Given the description of an element on the screen output the (x, y) to click on. 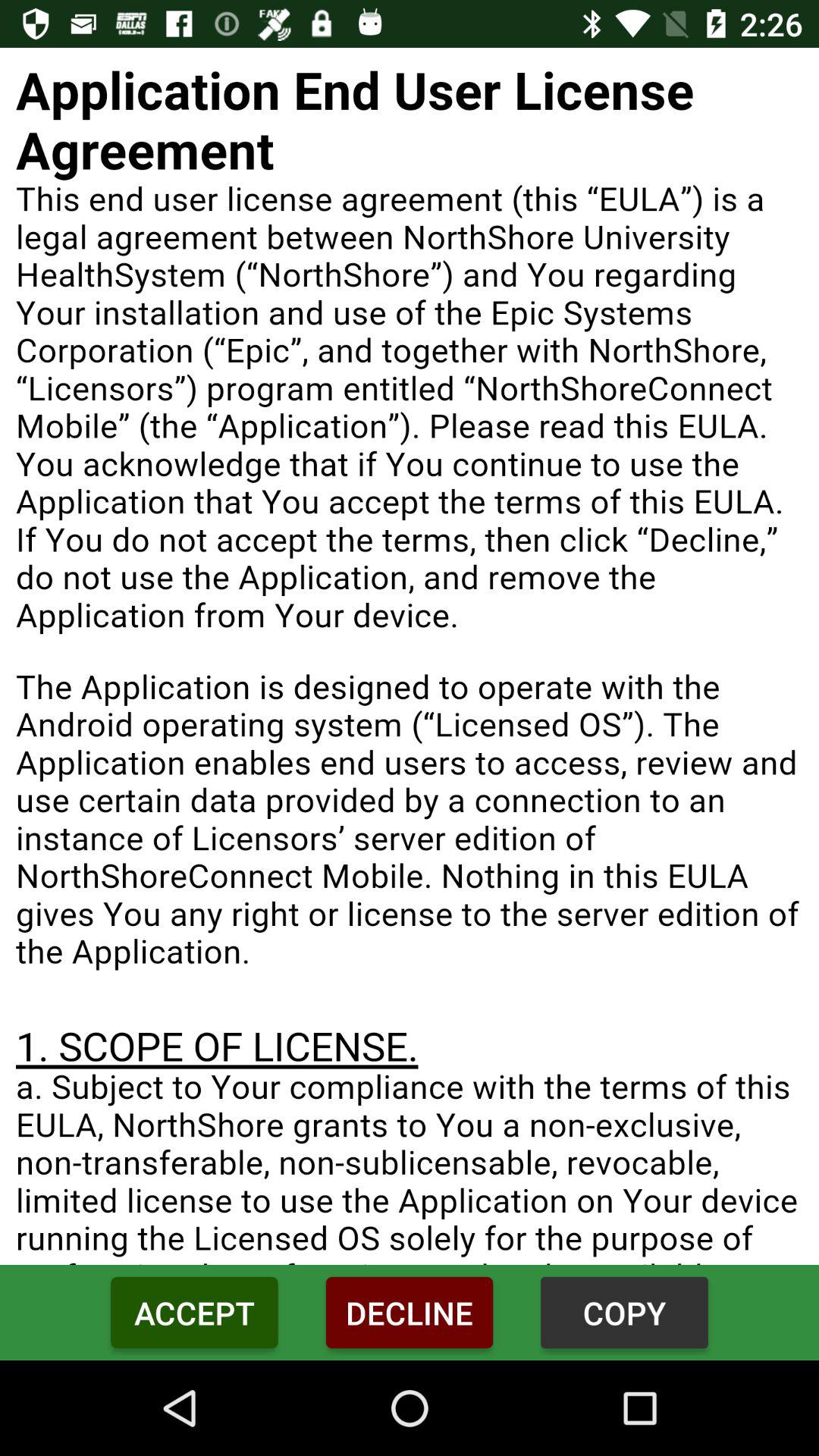
license agreement (409, 655)
